Given the description of an element on the screen output the (x, y) to click on. 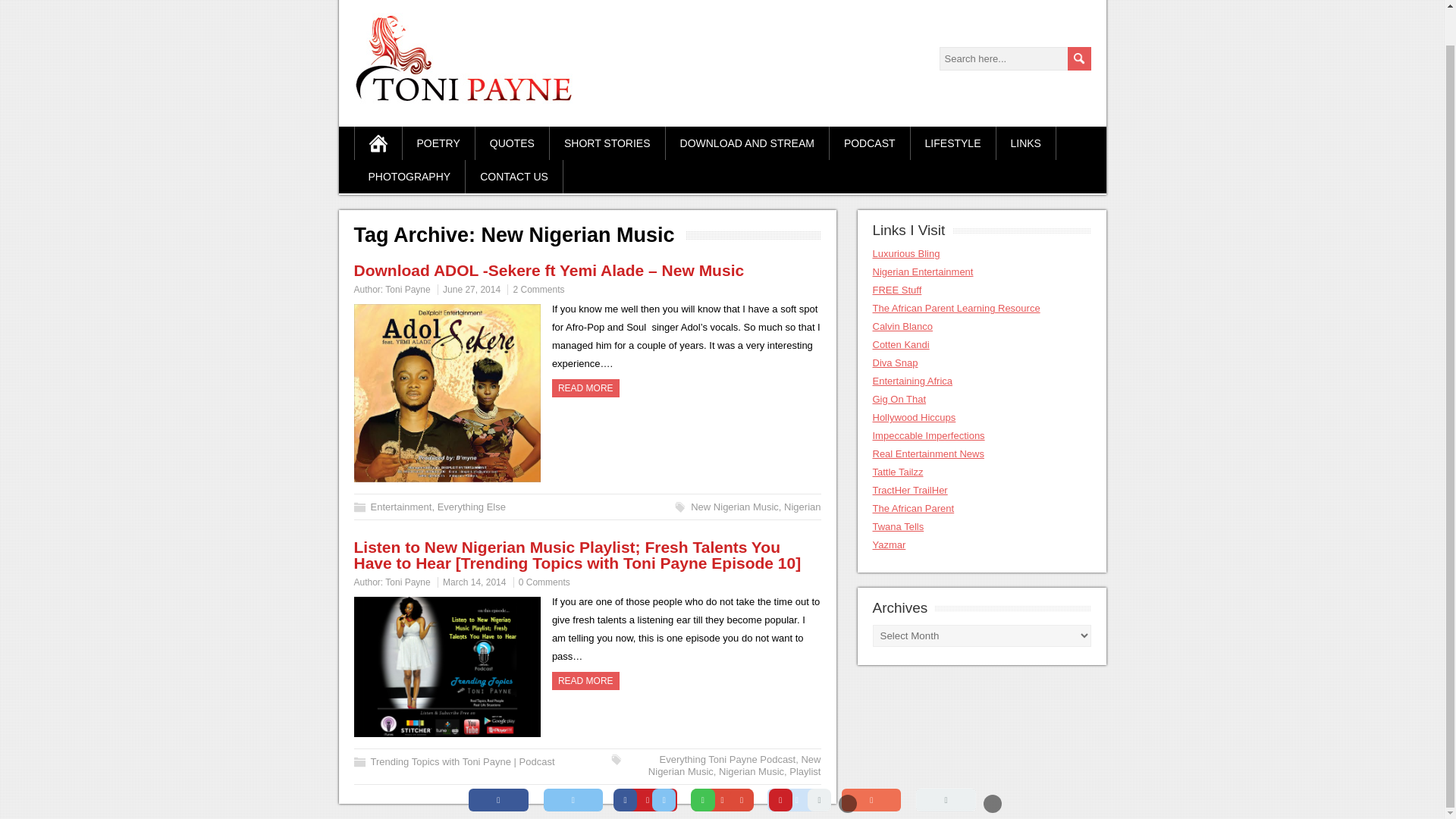
QUOTES (513, 142)
Toni Payne (407, 289)
PHOTOGRAPHY (409, 176)
Pinterest (647, 763)
Twitter (572, 763)
READ MORE (585, 388)
Everything Else (471, 506)
DOWNLOAD AND STREAM (747, 142)
Posts by Toni Payne (407, 289)
Add Bookmark (871, 763)
